Given the description of an element on the screen output the (x, y) to click on. 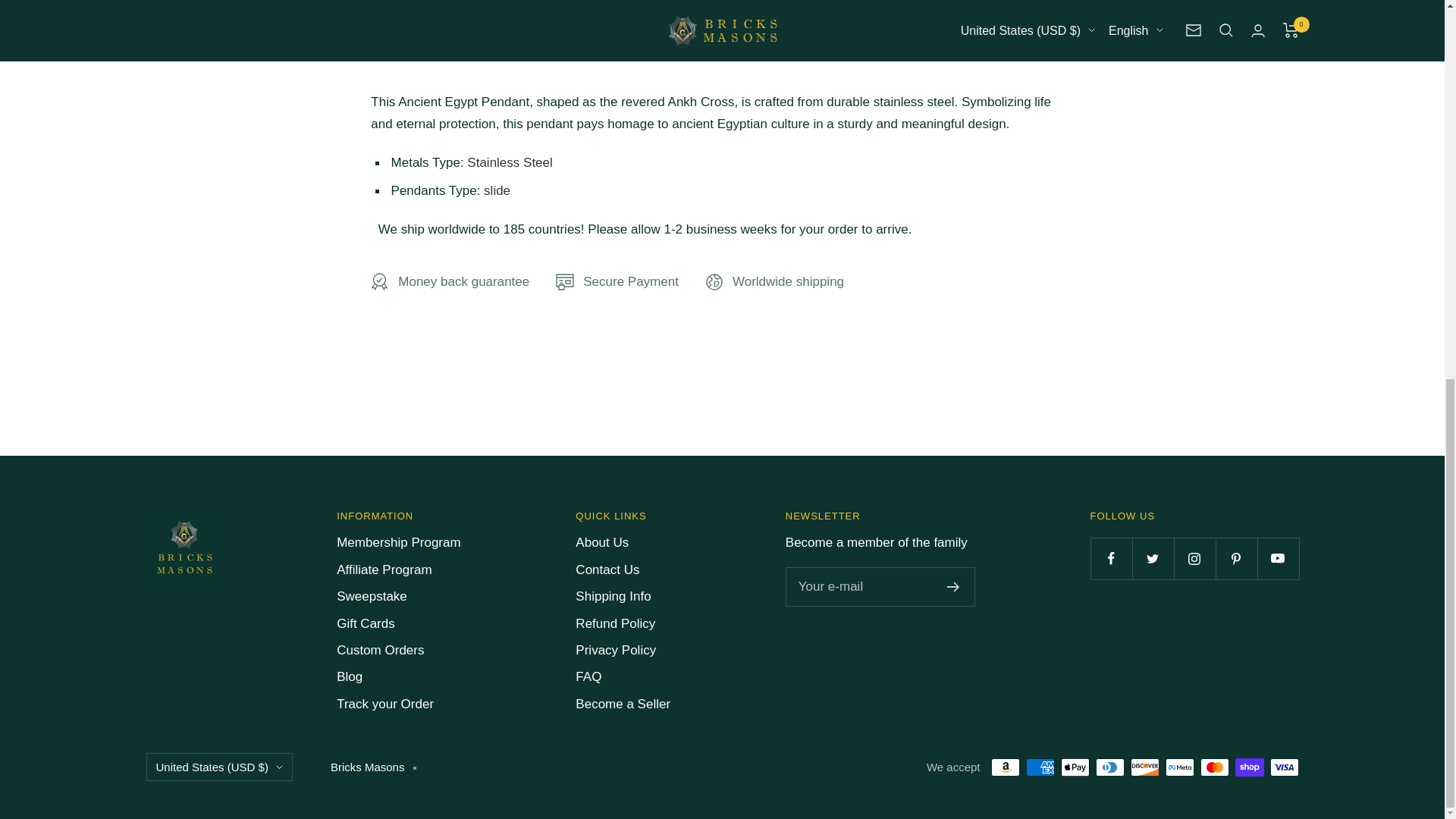
BM (928, 17)
BW (928, 128)
BA (928, 100)
Register (953, 586)
BT (928, 45)
BO (928, 73)
BR (928, 155)
